Given the description of an element on the screen output the (x, y) to click on. 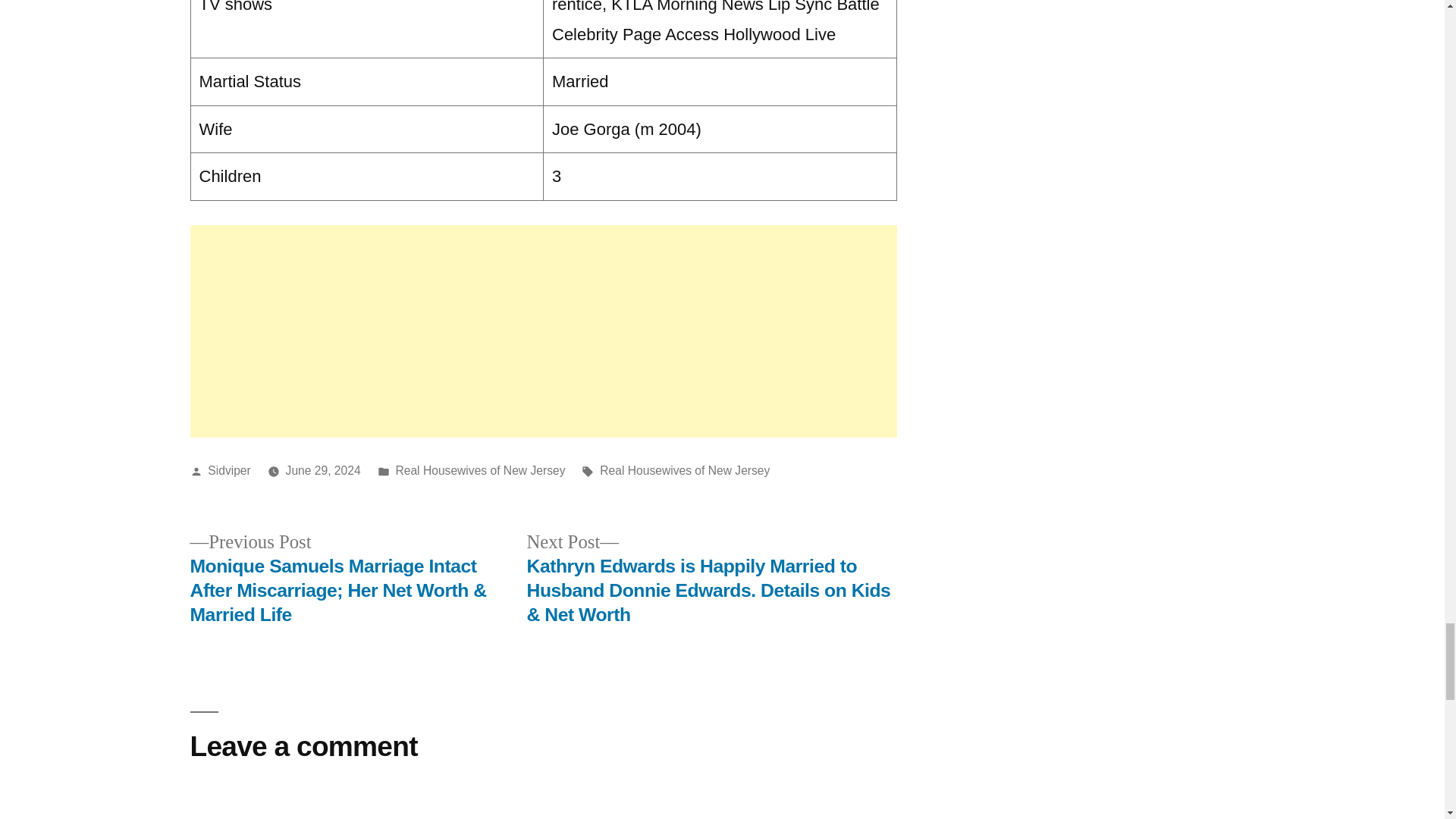
Real Housewives of New Jersey (479, 470)
Real Housewives of New Jersey (684, 470)
Sidviper (229, 470)
June 29, 2024 (323, 470)
